Given the description of an element on the screen output the (x, y) to click on. 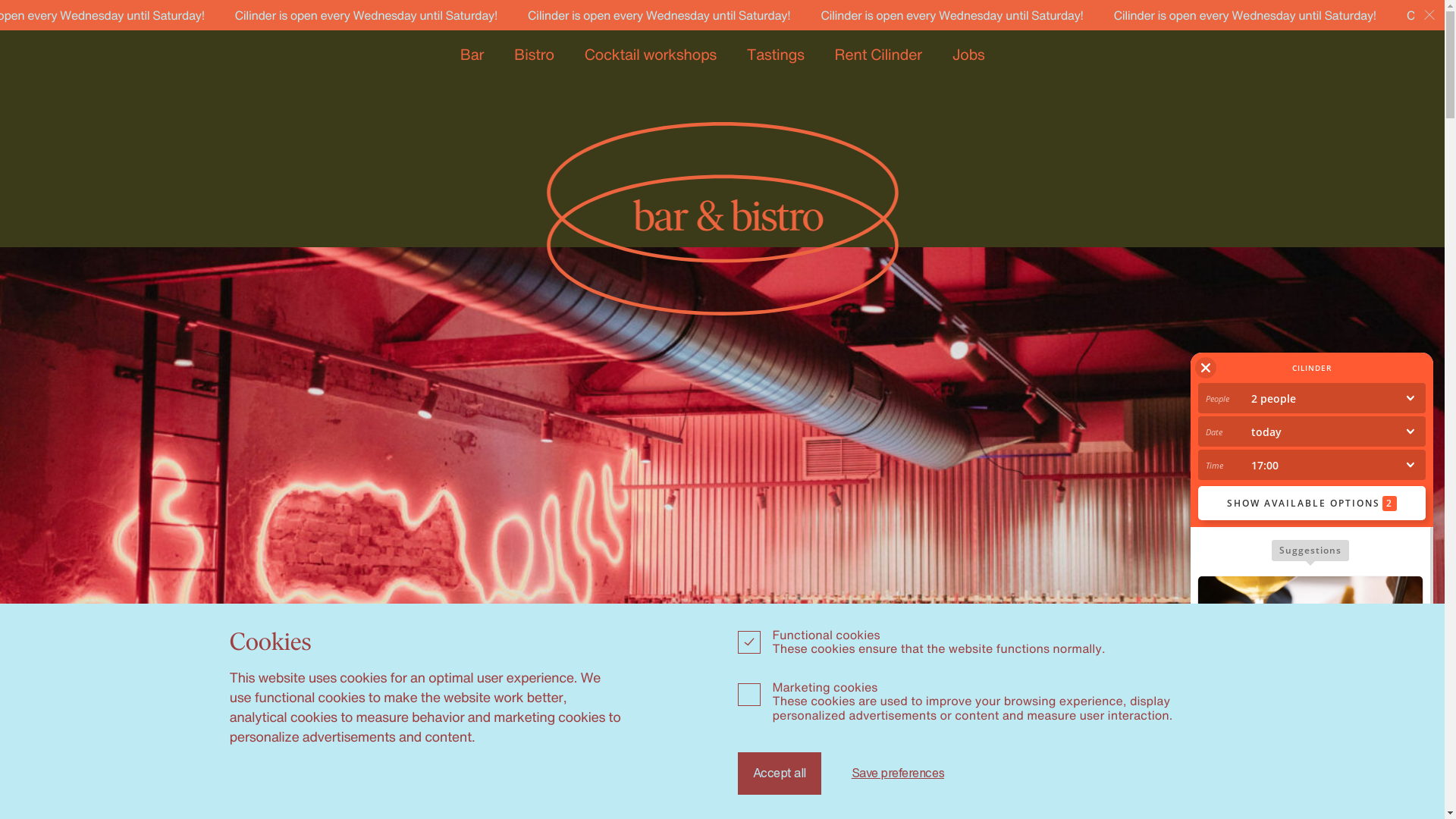
Jobs Element type: text (968, 54)
Accept all Element type: text (778, 773)
Cocktail workshops Element type: text (650, 54)
Bistro Element type: text (533, 54)
Tastings Element type: text (775, 54)
Rent Cilinder Element type: text (878, 54)
Save preferences Element type: text (897, 773)
Bar Element type: text (471, 54)
Navigatie overslaan Element type: text (24, 24)
